Given the description of an element on the screen output the (x, y) to click on. 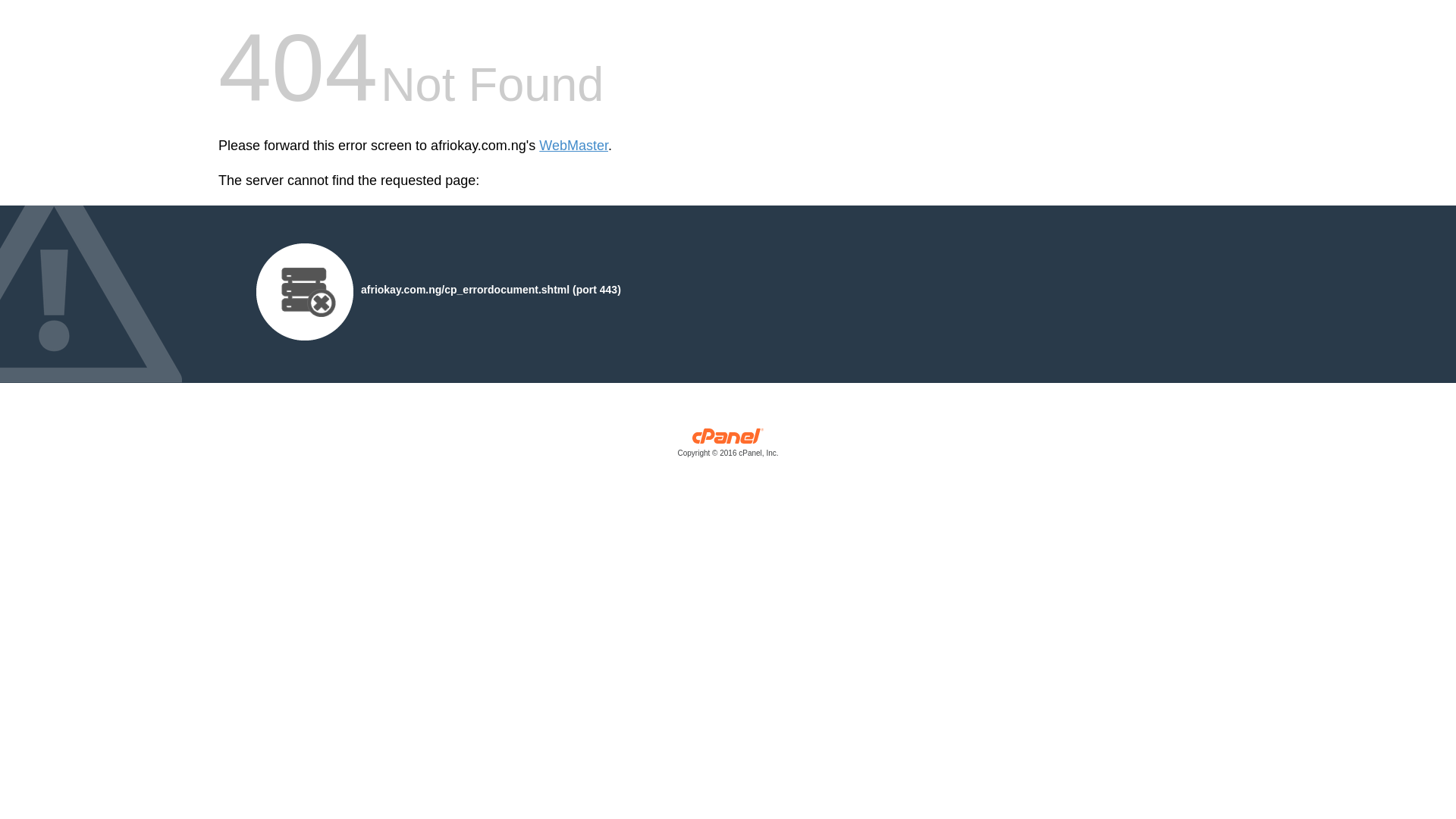
cPanel, Inc. (727, 446)
WebMaster (573, 145)
